Given the description of an element on the screen output the (x, y) to click on. 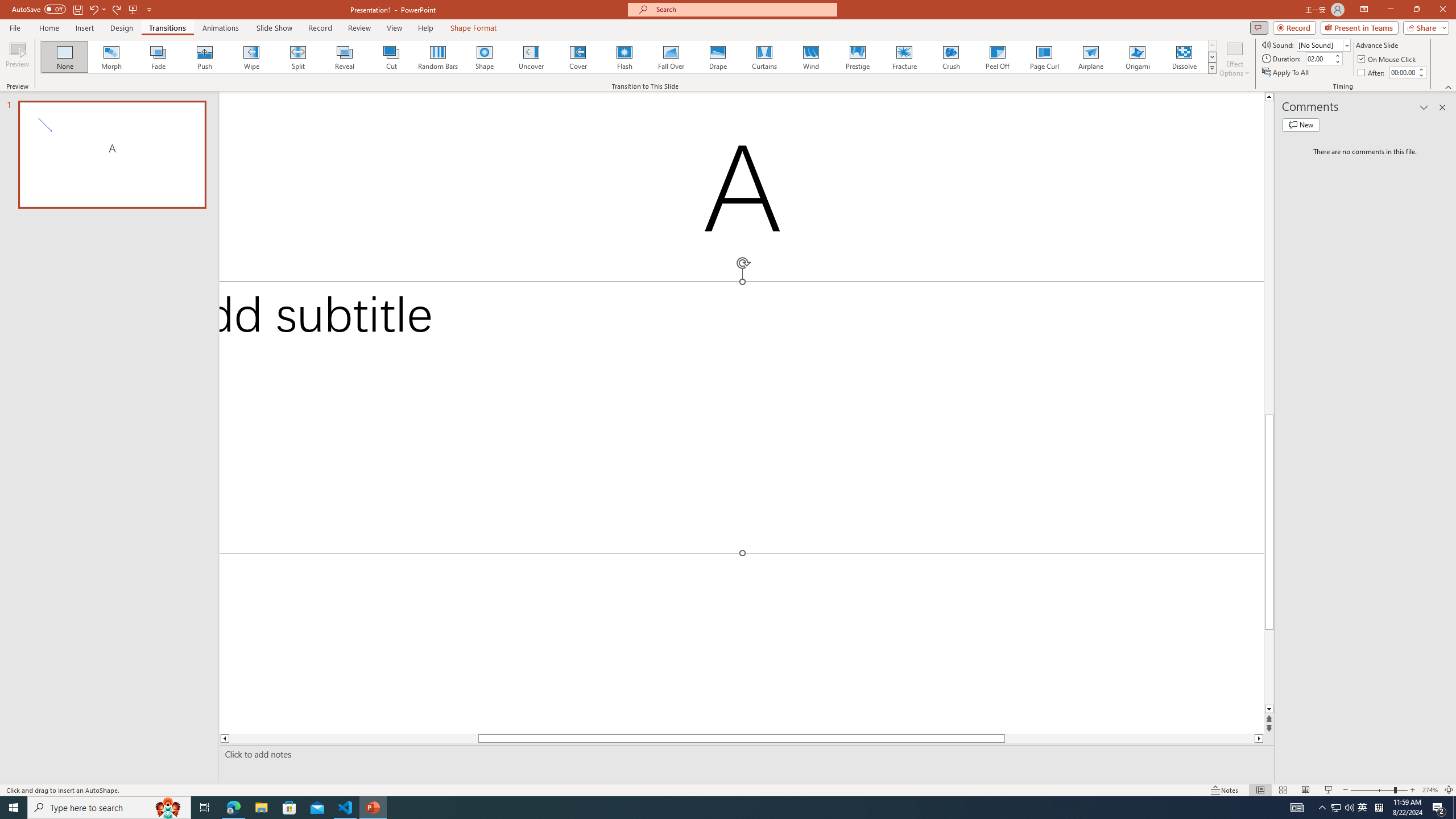
Zoom 274% (1430, 790)
Duration (1319, 58)
New comment (1300, 124)
AutomationID: AnimationTransitionGallery (628, 56)
Cover (577, 56)
Curtains (764, 56)
